Given the description of an element on the screen output the (x, y) to click on. 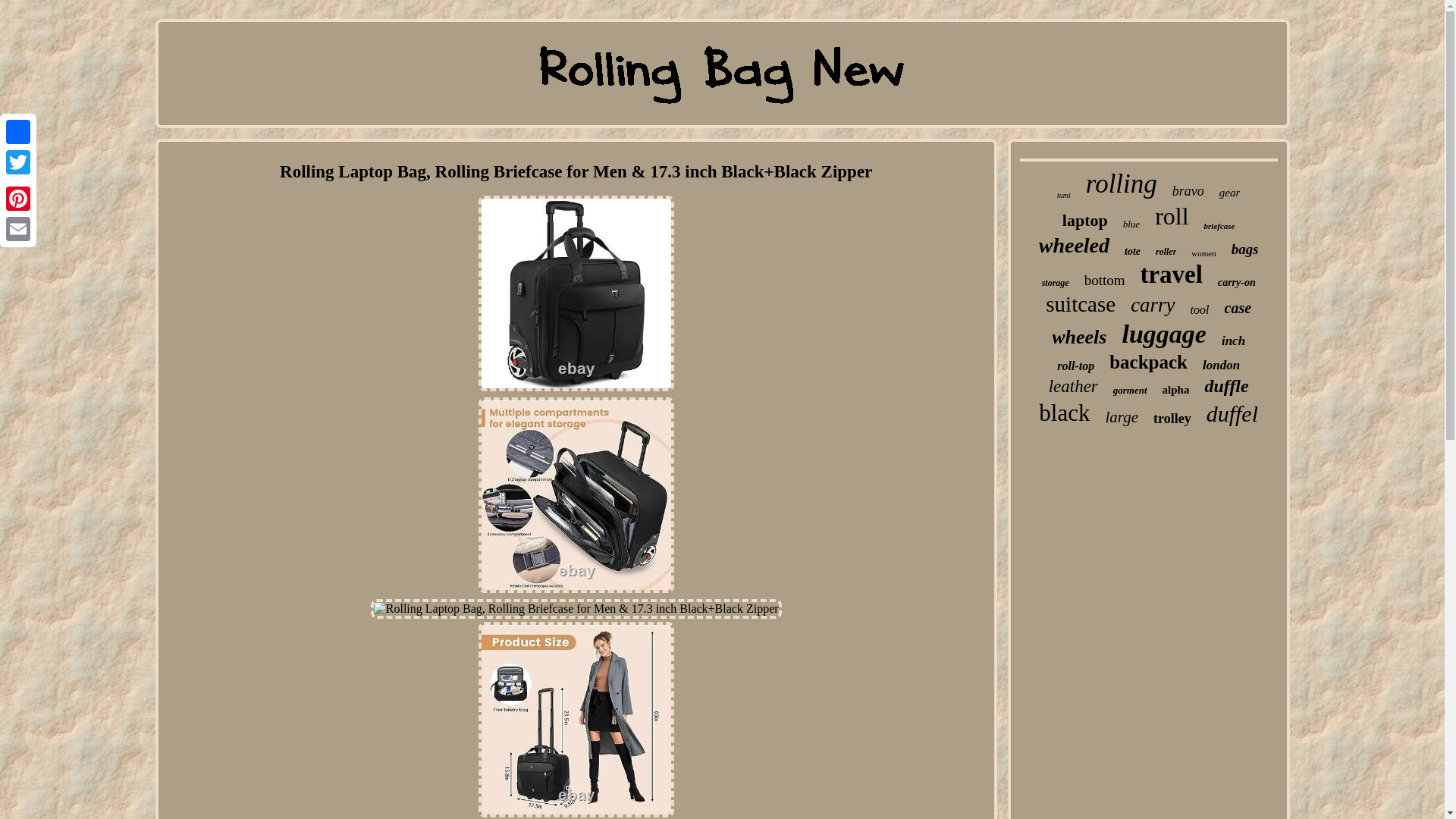
gear (1230, 192)
Facebook (17, 132)
bottom (1104, 280)
bravo (1188, 191)
women (1203, 252)
travel (1171, 275)
storage (1055, 283)
wheels (1078, 336)
bags (1245, 248)
carry (1152, 304)
